Given the description of an element on the screen output the (x, y) to click on. 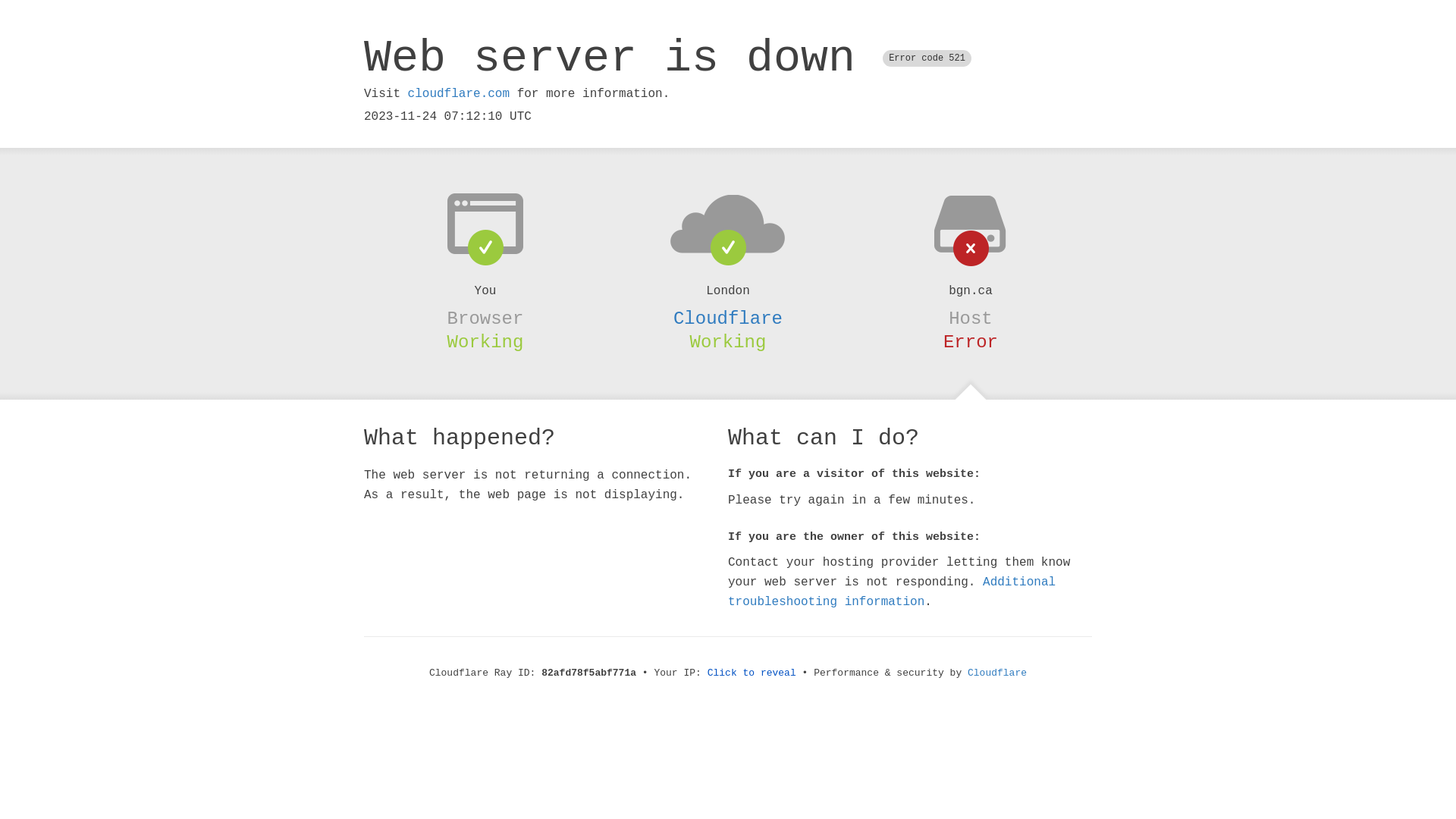
Additional troubleshooting information Element type: text (891, 591)
Cloudflare Element type: text (996, 672)
Click to reveal Element type: text (751, 672)
cloudflare.com Element type: text (458, 93)
Cloudflare Element type: text (727, 318)
